Given the description of an element on the screen output the (x, y) to click on. 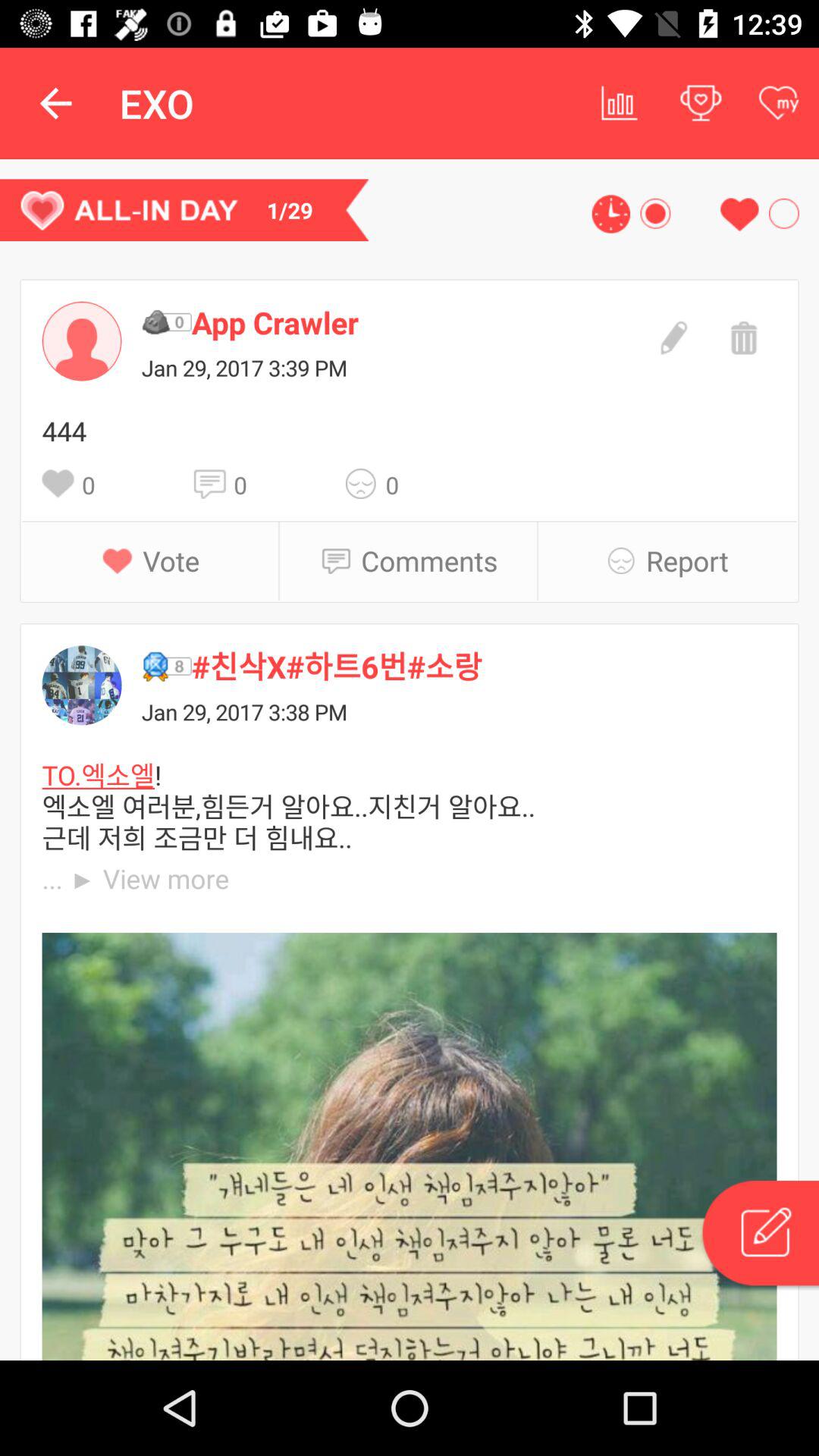
react with emoji (365, 483)
